Given the description of an element on the screen output the (x, y) to click on. 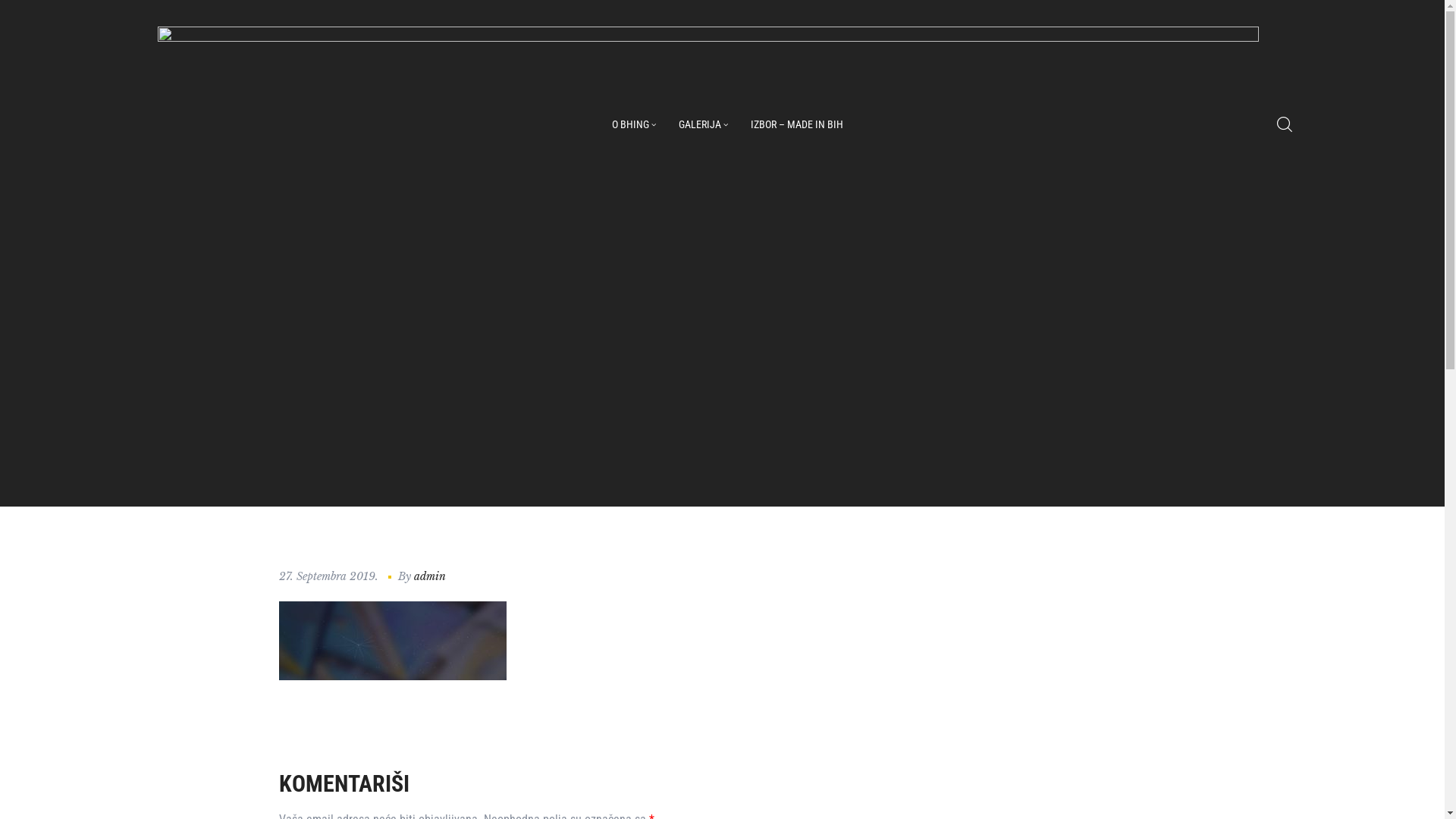
GALERIJA Element type: text (703, 124)
27. Septembra 2019. Element type: text (328, 576)
O BHING Element type: text (633, 124)
admin Element type: text (429, 576)
